Given the description of an element on the screen output the (x, y) to click on. 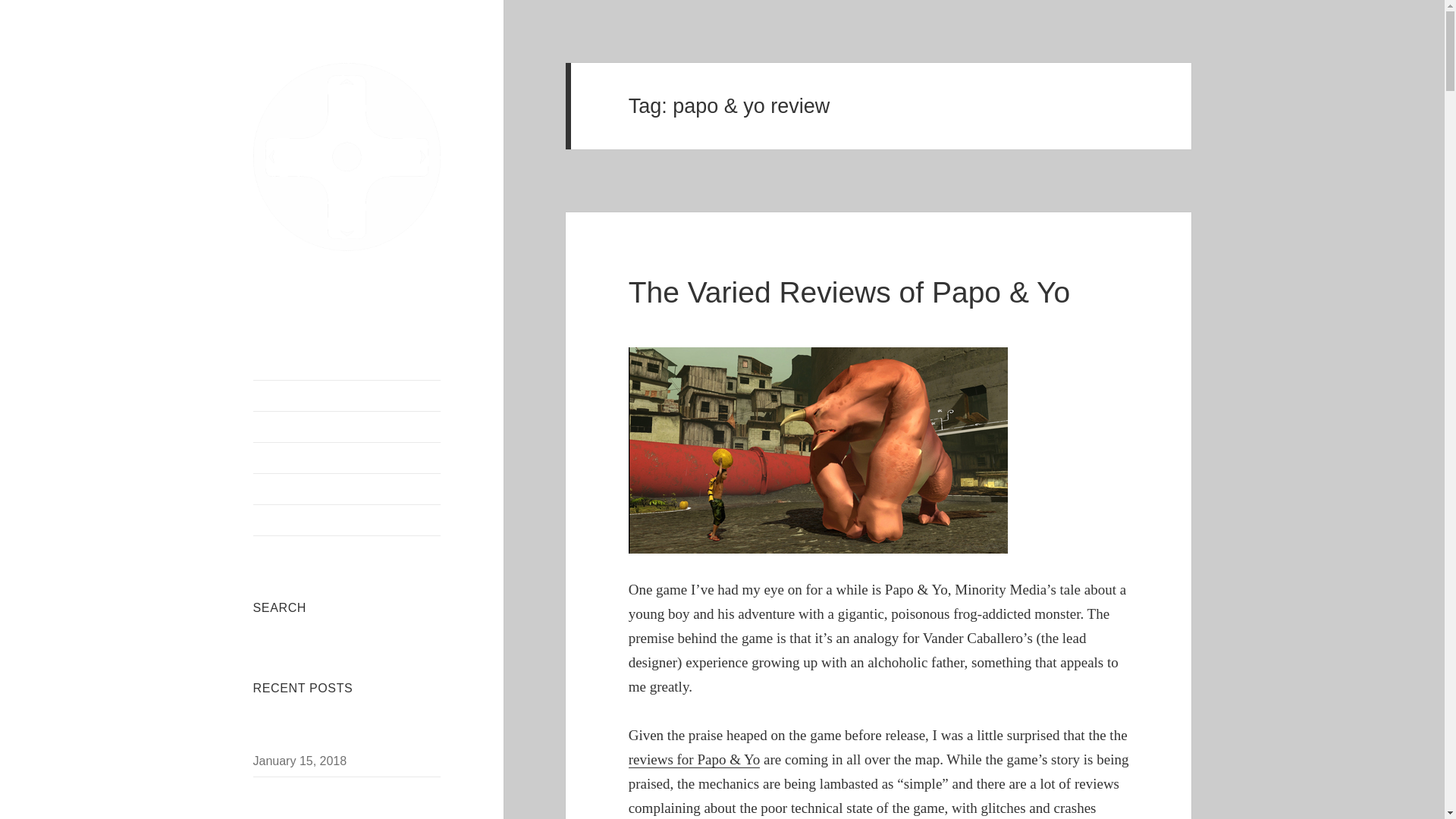
About (347, 426)
GamerSushi (346, 262)
The GamerSushi Show, Ep 95: Super Sushian Odyssey (336, 733)
Home (347, 395)
Features (347, 520)
The GamerSushi Show (347, 458)
Reviews (347, 489)
